Given the description of an element on the screen output the (x, y) to click on. 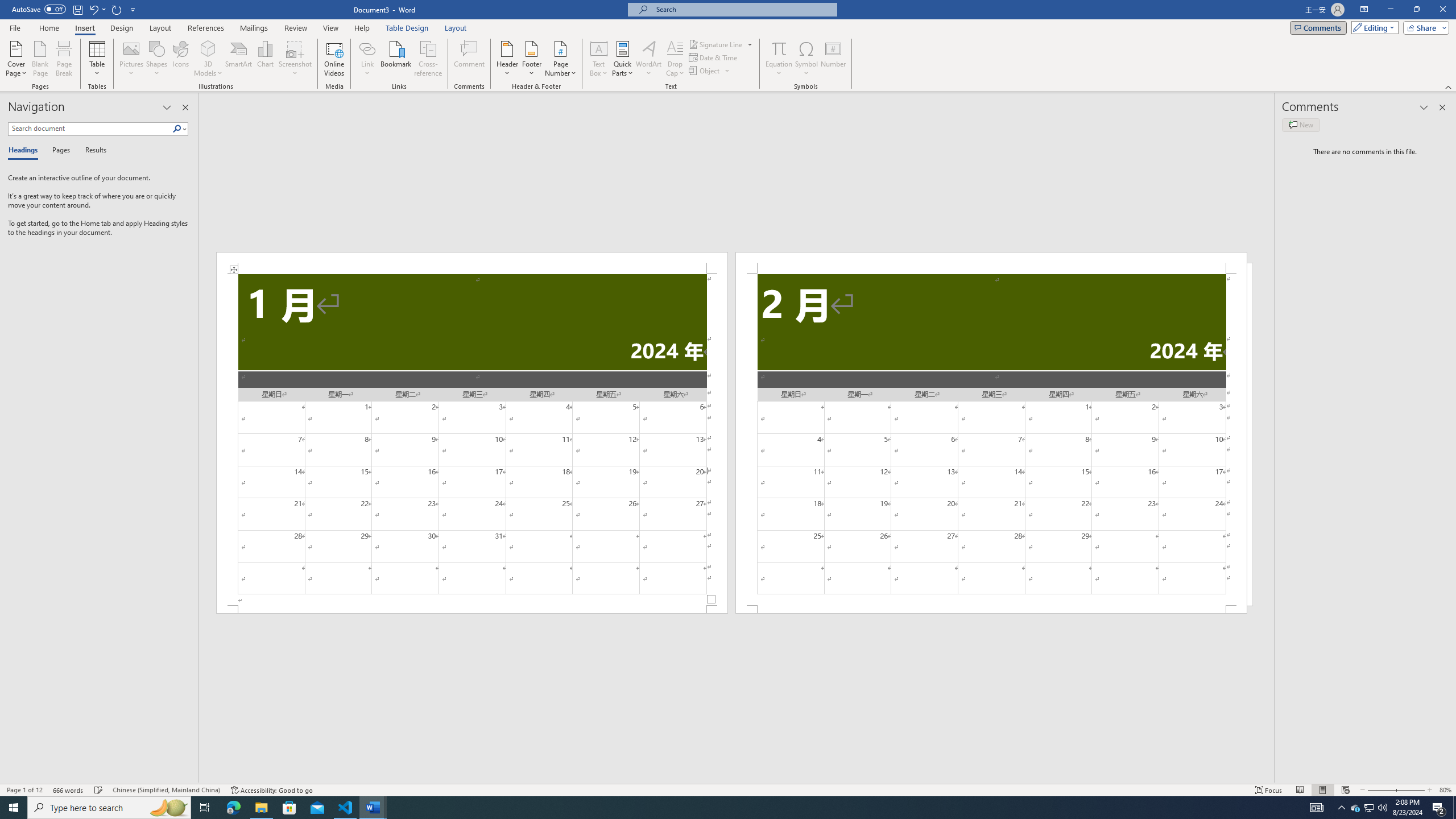
Page 2 content (991, 439)
Mode (1372, 27)
Share (1423, 27)
Word Count 666 words (68, 790)
Minimize (1390, 9)
Mailings (253, 28)
Table (97, 58)
References (205, 28)
Comment (469, 58)
File Tab (15, 27)
Number... (833, 58)
Spelling and Grammar Check Checking (98, 790)
3D Models (208, 48)
Page 1 content (471, 439)
